Given the description of an element on the screen output the (x, y) to click on. 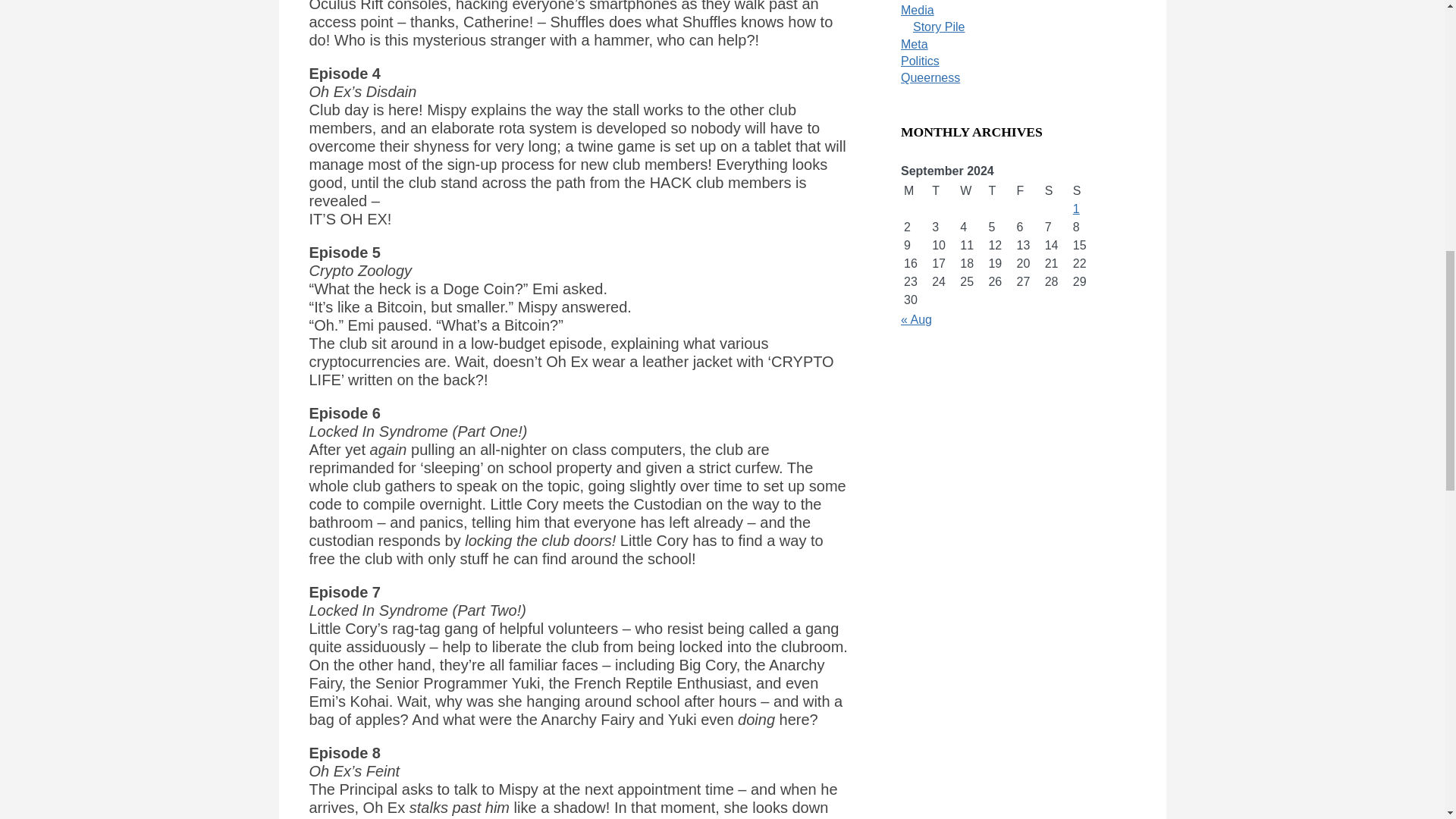
Monday (914, 190)
Sunday (1083, 190)
Queerness (930, 77)
Media (917, 10)
Story Pile (937, 26)
Thursday (999, 190)
Saturday (1056, 190)
Politics (920, 60)
Meta (914, 43)
Tuesday (942, 190)
